Given the description of an element on the screen output the (x, y) to click on. 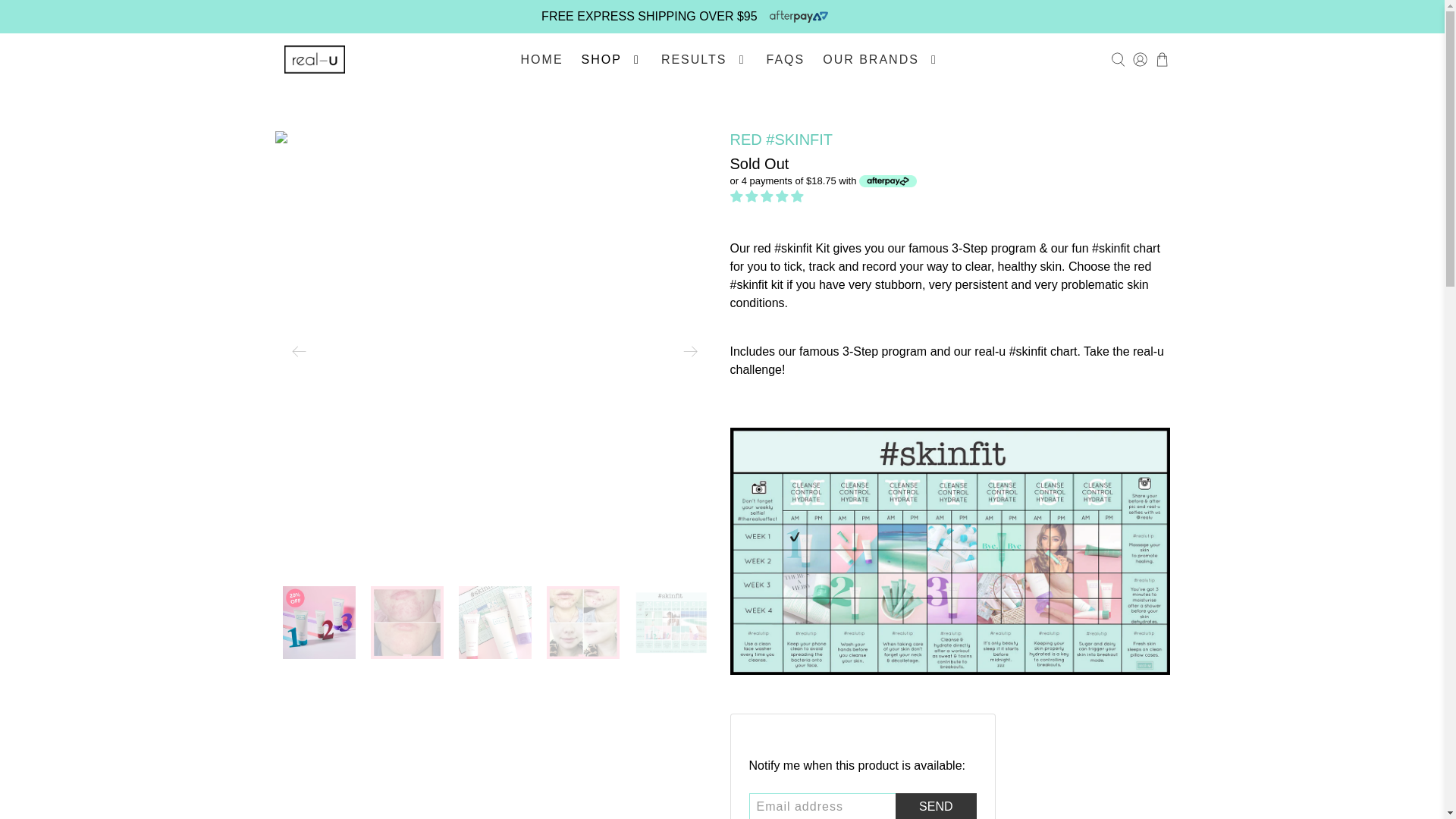
HOME (542, 59)
OUR BRANDS (881, 59)
FAQS (785, 59)
real-u (313, 59)
RESULTS (704, 59)
SHOP (612, 59)
Send (935, 806)
